Given the description of an element on the screen output the (x, y) to click on. 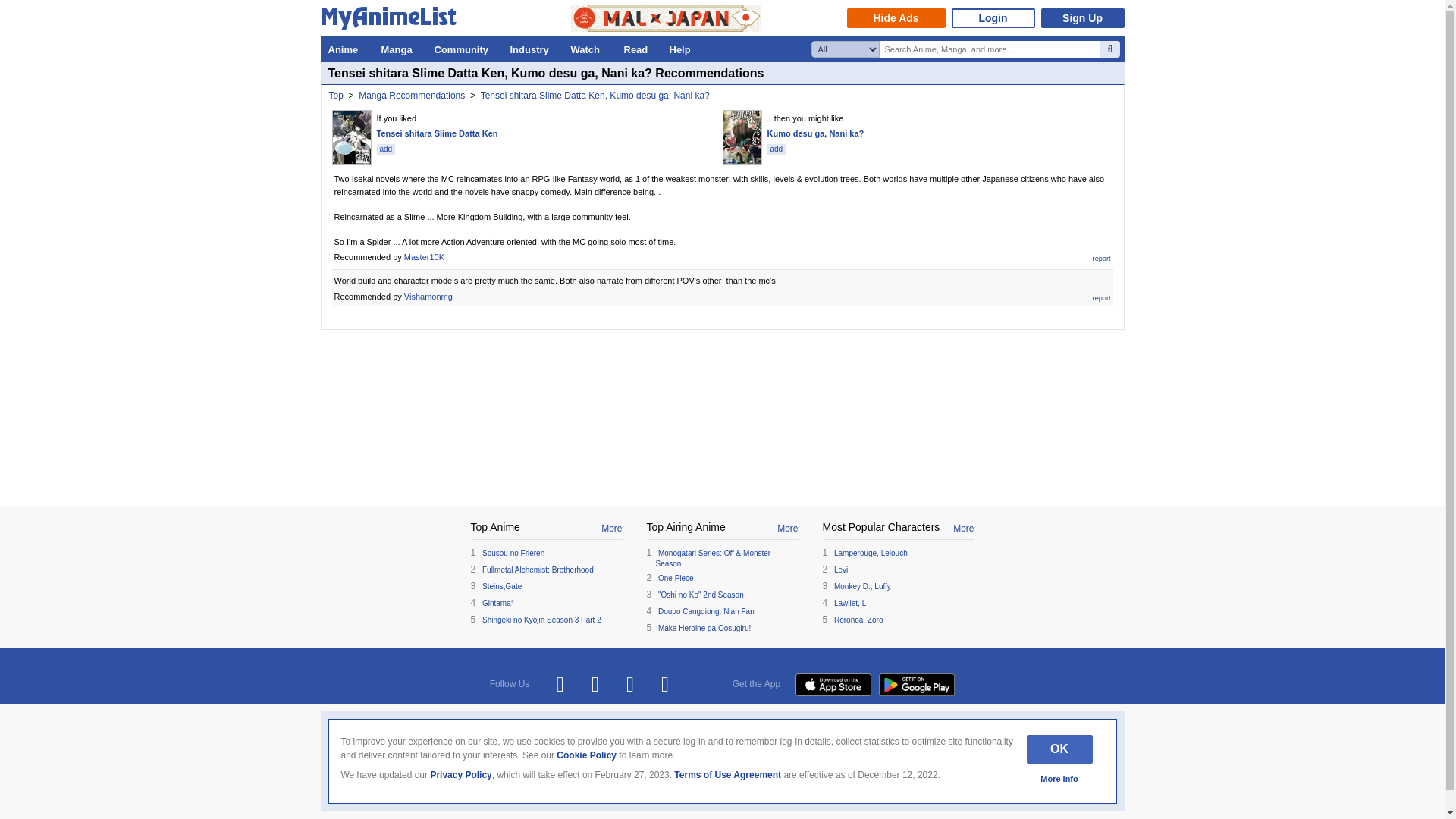
Tensei shitara Slime Datta Ken (436, 133)
Manga (399, 49)
MyAnimeList.net (392, 21)
Community (464, 49)
MAL x JAPAN (665, 17)
Watch (588, 49)
Join Discord Chat (665, 684)
Kumo desu ga, Nani ka? (815, 133)
Industry (532, 49)
Sign Up (1082, 17)
